Given the description of an element on the screen output the (x, y) to click on. 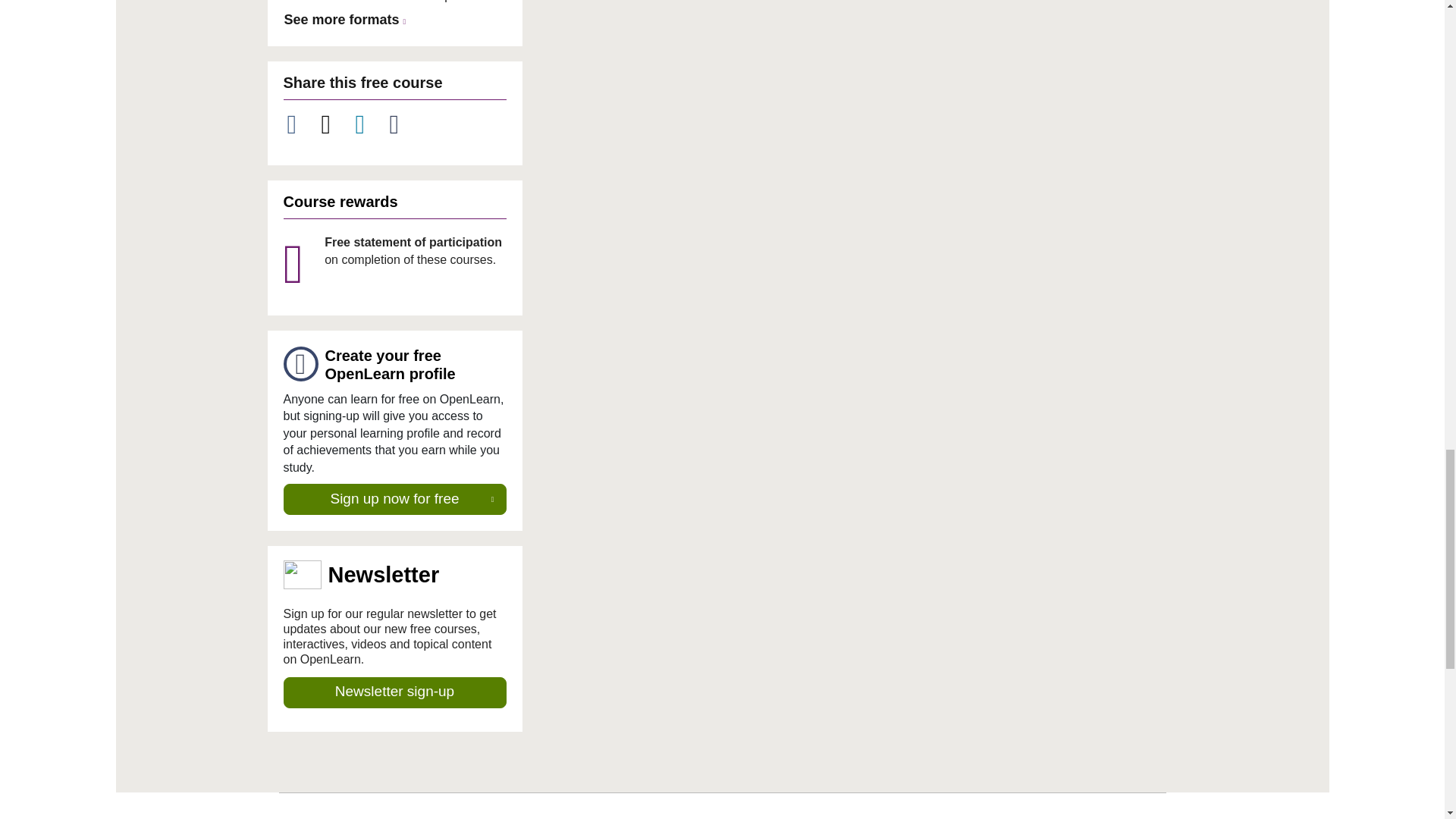
See more formats (347, 19)
Share on LinkedIn (368, 124)
Share on Facebook (299, 124)
Share on Twitter (334, 124)
Sign up now for free (394, 499)
Share via Email (403, 124)
